Given the description of an element on the screen output the (x, y) to click on. 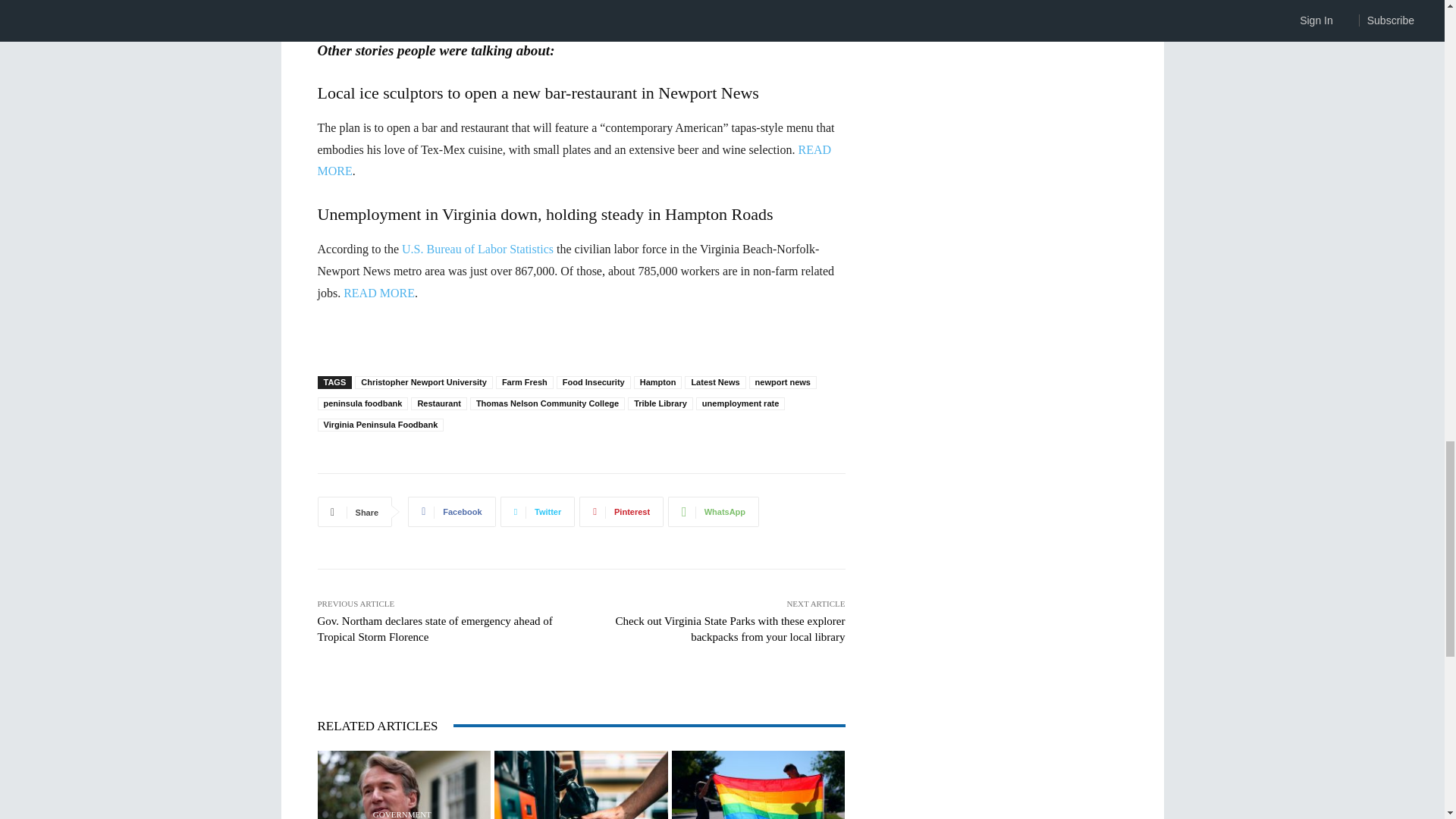
WhatsApp (713, 511)
Twitter (537, 511)
Pinterest (621, 511)
Facebook (451, 511)
